Given the description of an element on the screen output the (x, y) to click on. 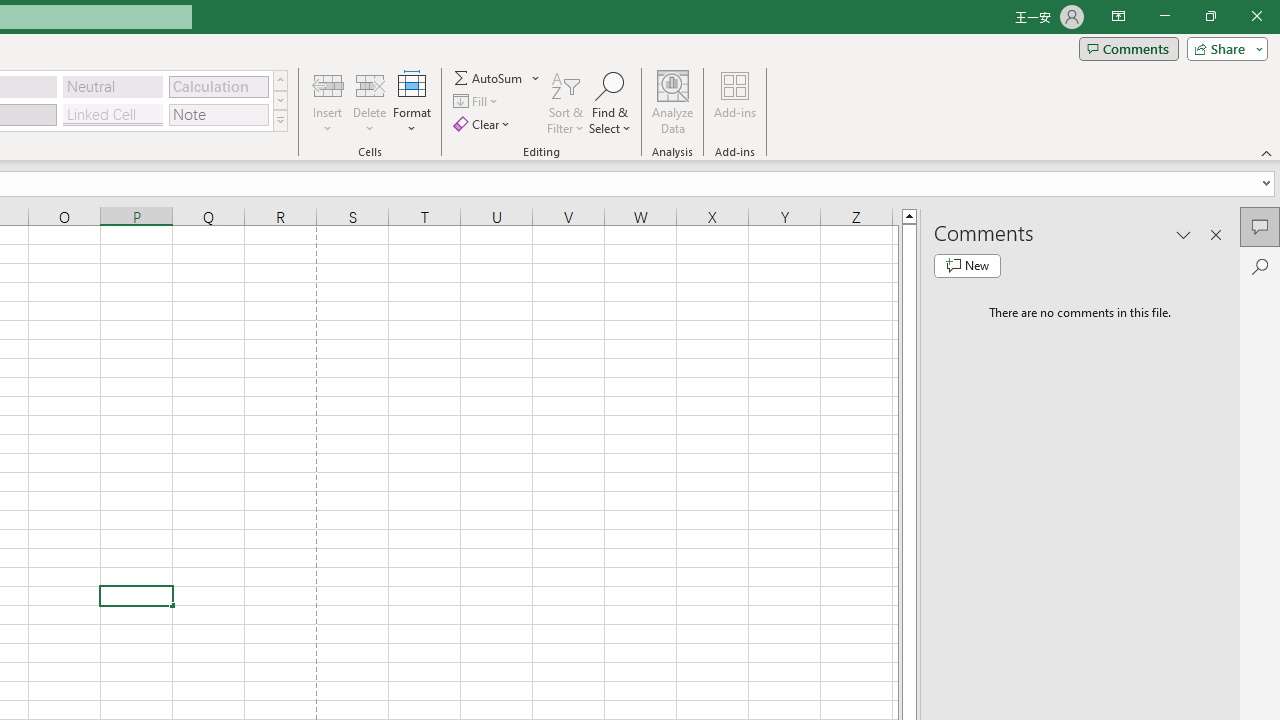
Collapse the Ribbon (1267, 152)
Line up (909, 215)
Analyze Data (673, 102)
AutoSum (497, 78)
Find & Select (610, 102)
Restore Down (1210, 16)
Clear (483, 124)
Sort & Filter (566, 102)
Insert (328, 102)
Sum (489, 78)
Calculation (218, 86)
Neutral (113, 86)
Row Down (280, 100)
Comments (1128, 48)
